Given the description of an element on the screen output the (x, y) to click on. 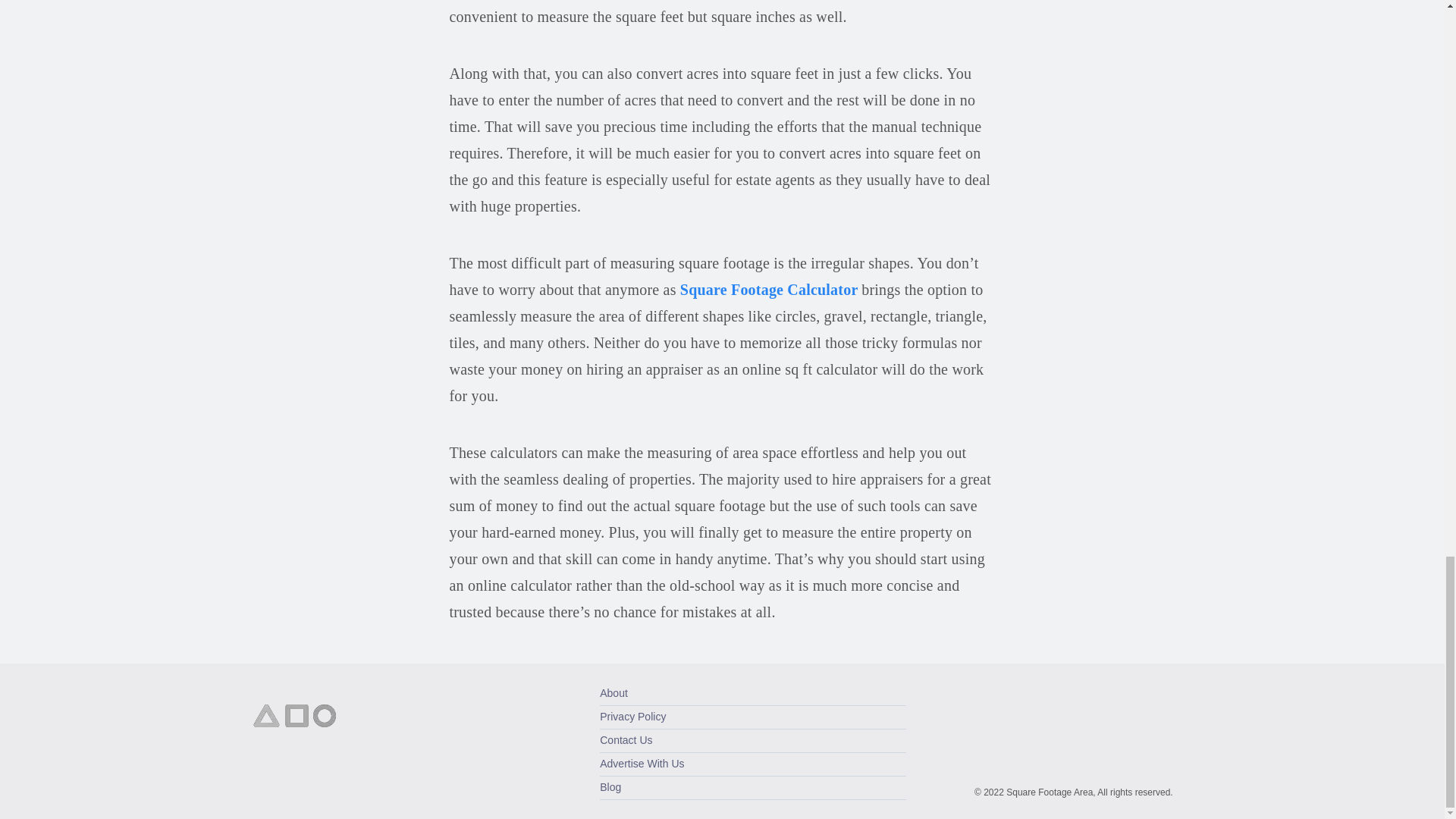
Privacy Policy (632, 716)
Advertise With Us (641, 763)
About (613, 693)
Blog (610, 787)
Square Footage Calculator (770, 289)
Contact Us (625, 739)
